Given the description of an element on the screen output the (x, y) to click on. 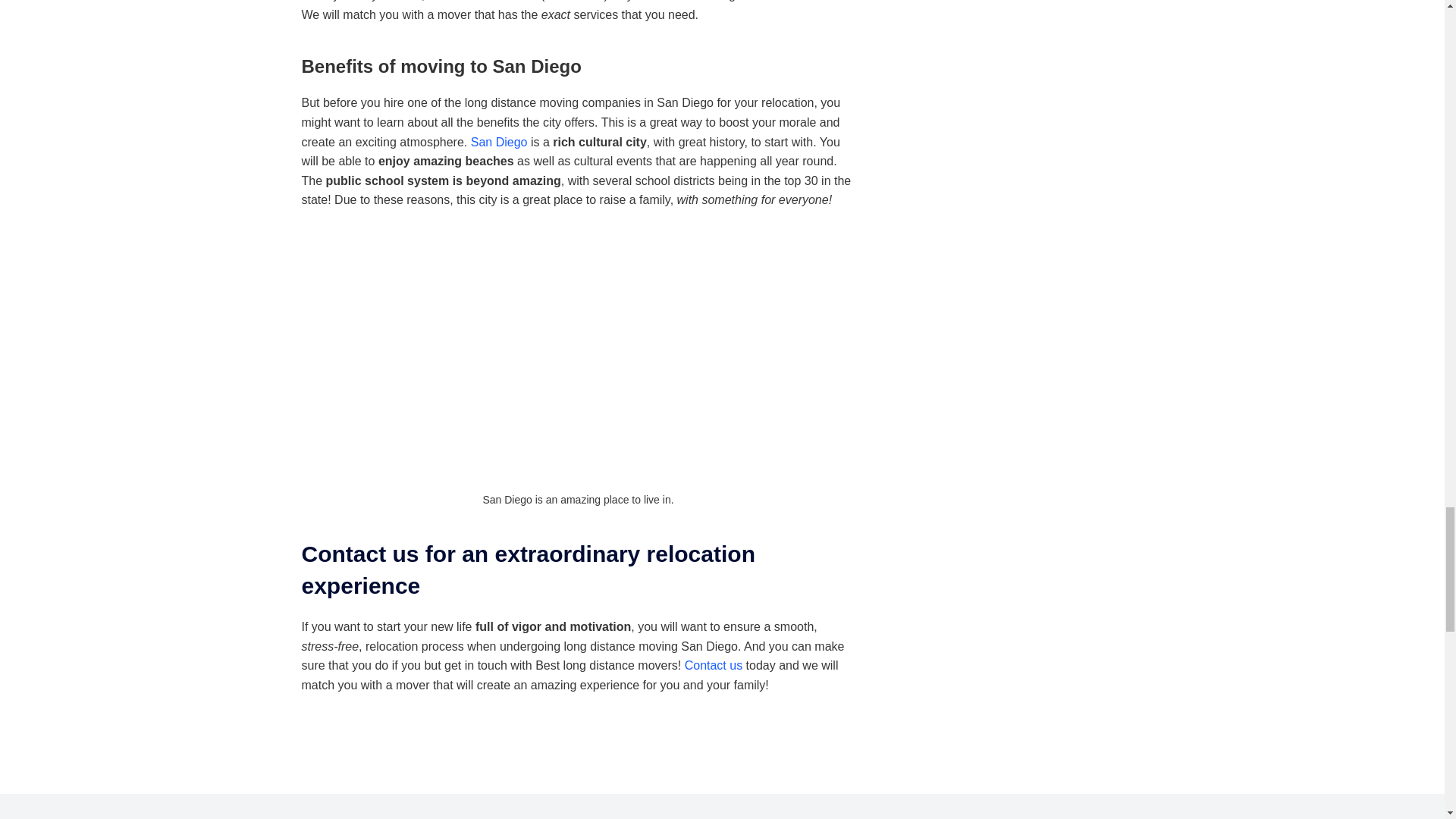
Contact us (713, 665)
San Diego (498, 141)
